Given the description of an element on the screen output the (x, y) to click on. 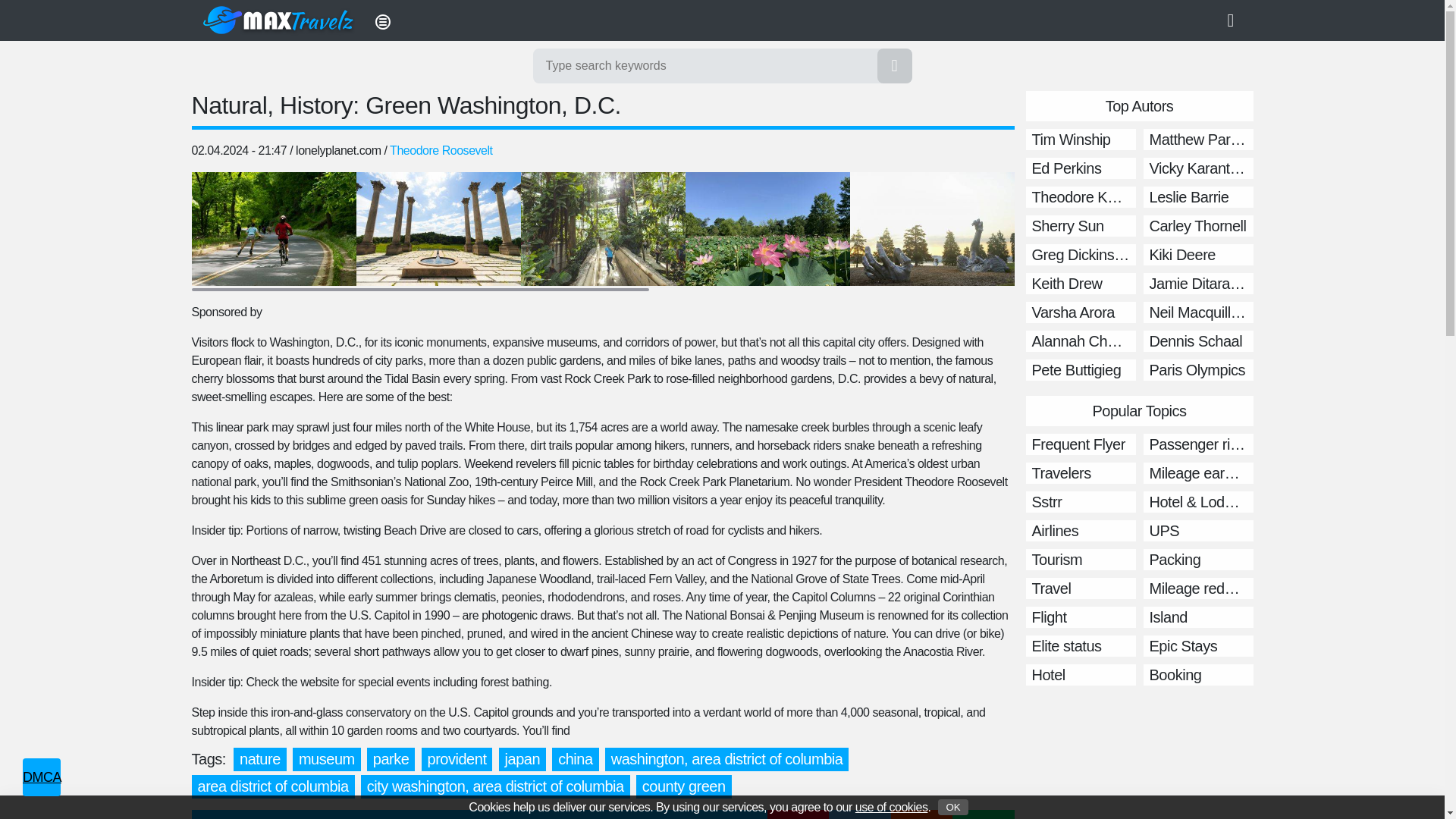
maxtravelz.com (279, 20)
lonelyplanet.com (337, 150)
DARK MODE (1235, 20)
Theodore Roosevelt (441, 150)
nature (259, 759)
